Given the description of an element on the screen output the (x, y) to click on. 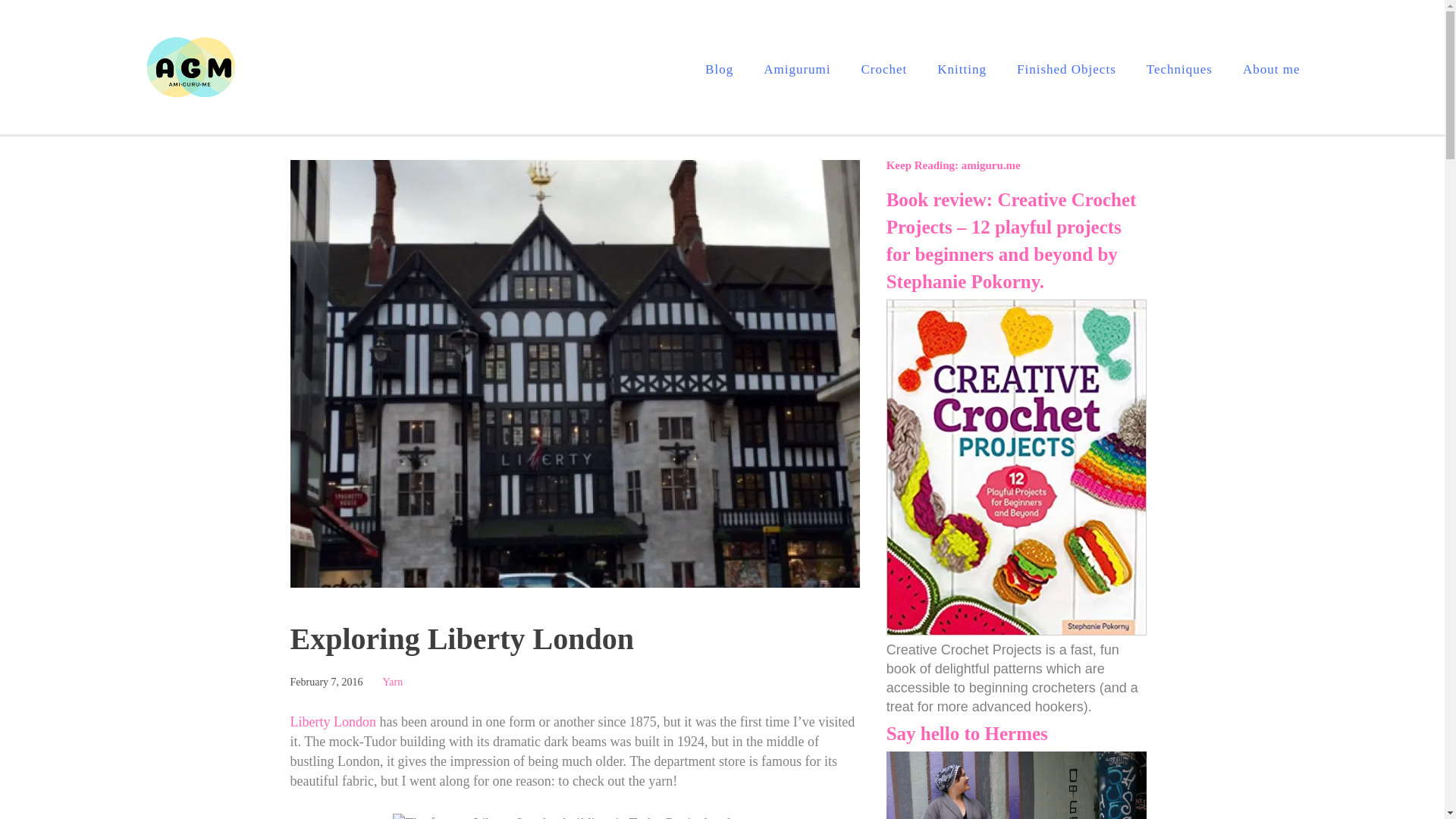
Yarn (392, 681)
Knitting (962, 69)
About me (1271, 69)
Techniques (1179, 69)
Liberty London (332, 721)
Blog (718, 69)
Crochet (884, 69)
Finished Objects (1066, 69)
Say hello to Hermes (967, 733)
